Given the description of an element on the screen output the (x, y) to click on. 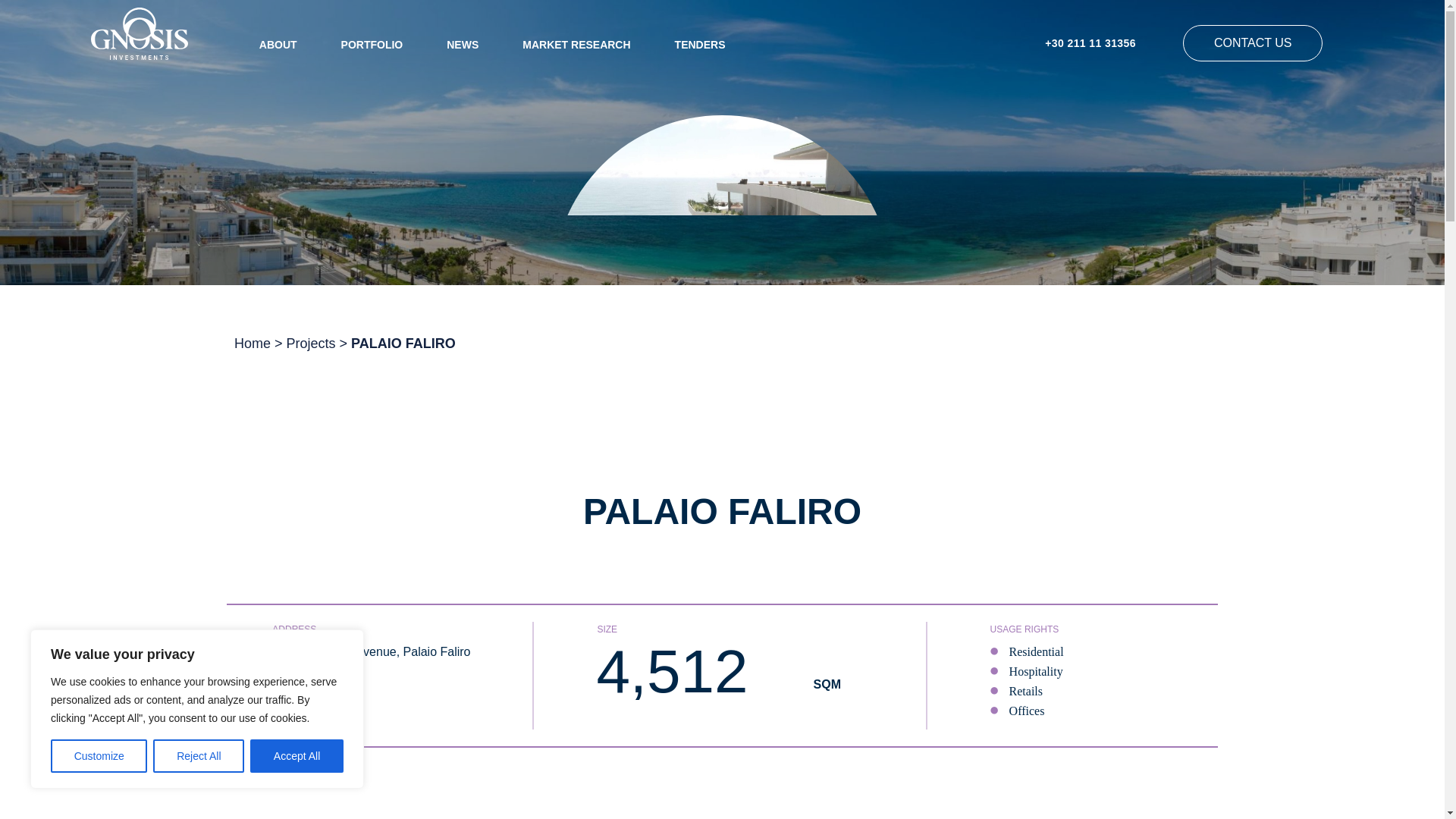
TENDERS (700, 44)
Home (252, 343)
Projects (311, 343)
CONTACT US (1252, 43)
Reject All (198, 756)
Accept All (296, 756)
MARKET RESEARCH (576, 44)
ABOUT (277, 44)
NEWS (462, 44)
Customize (98, 756)
